Given the description of an element on the screen output the (x, y) to click on. 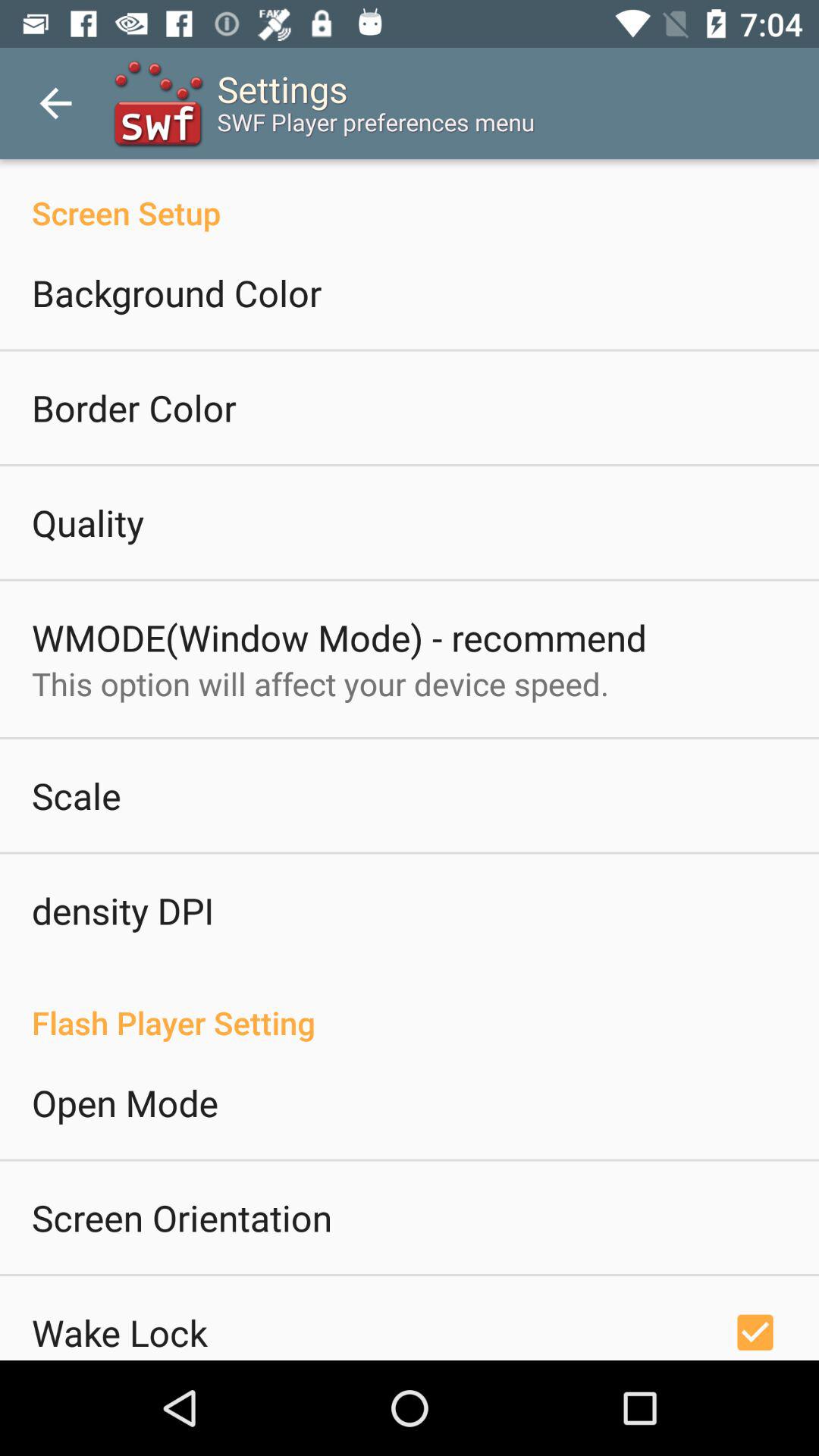
click the item next to wake lock icon (755, 1330)
